Given the description of an element on the screen output the (x, y) to click on. 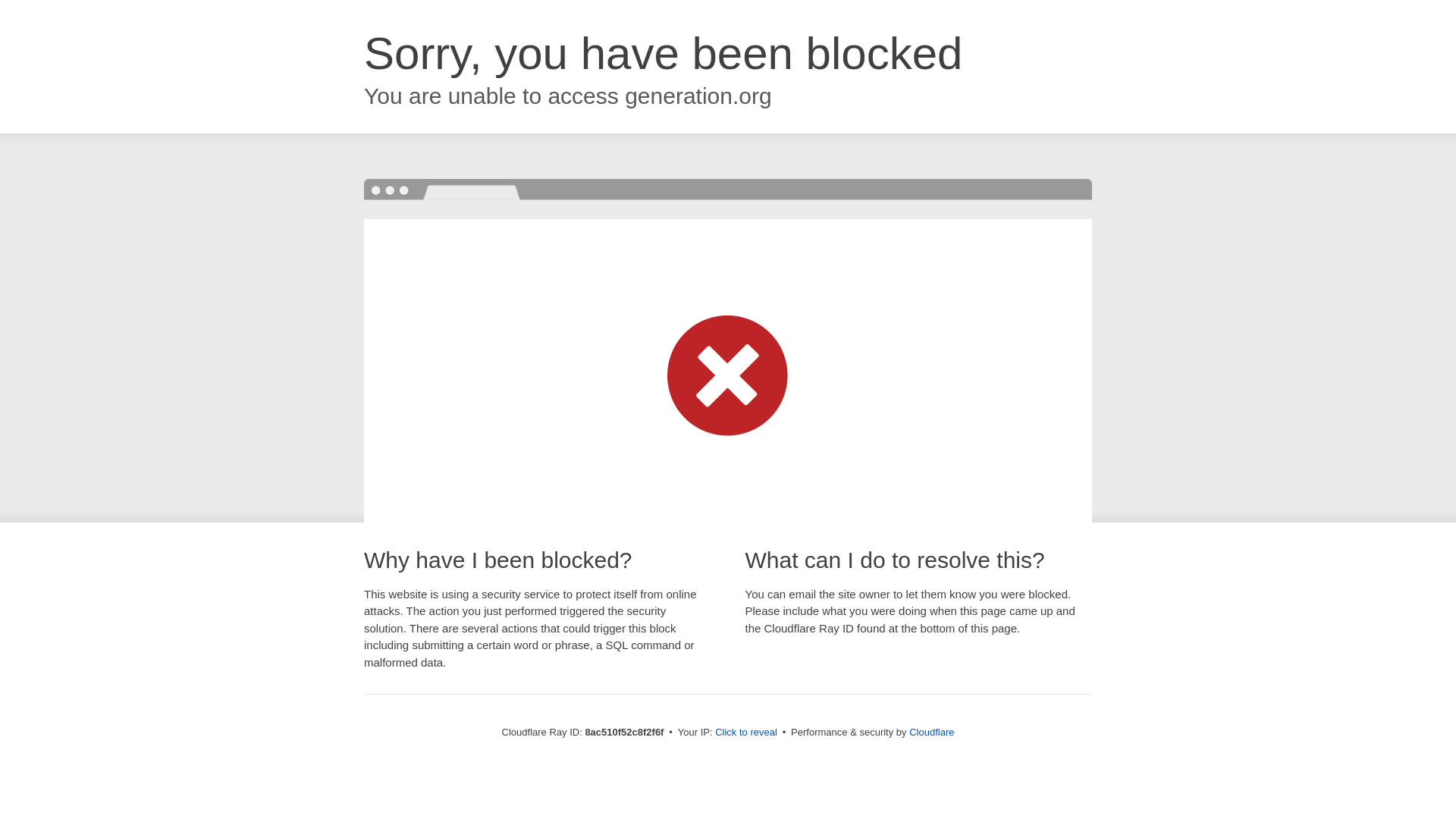
Click to reveal (745, 732)
Cloudflare (930, 731)
